Given the description of an element on the screen output the (x, y) to click on. 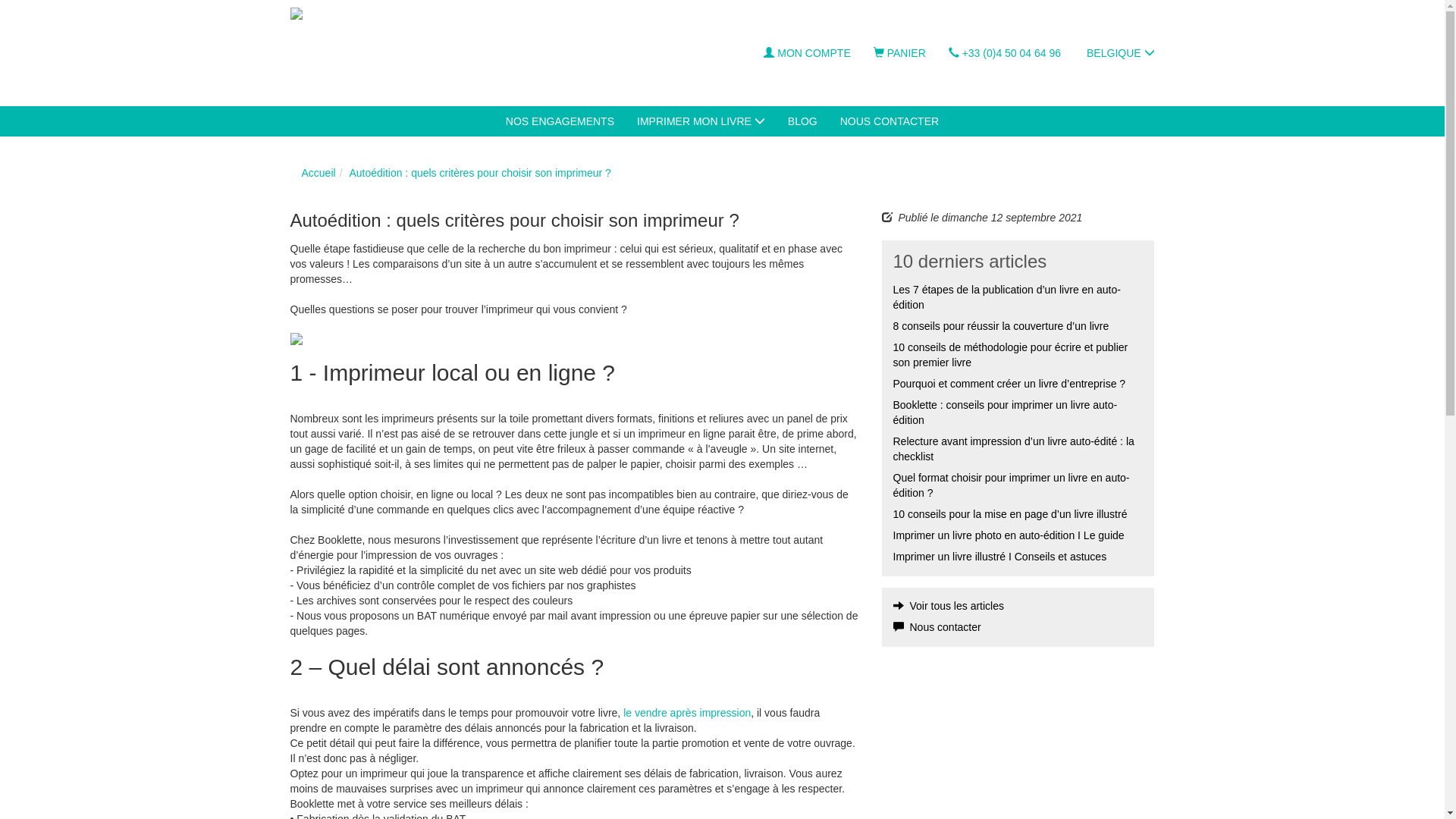
NOUS CONTACTER Element type: text (889, 121)
BELGIQUE Element type: text (1118, 53)
IMPRIMER MON LIVRE Element type: text (700, 121)
+33 (0)4 50 04 64 96 Element type: text (1004, 53)
Accueil Element type: text (318, 172)
Voir tous les articles Element type: text (948, 605)
NOS ENGAGEMENTS Element type: text (559, 121)
Nous contacter Element type: text (937, 627)
MON COMPTE Element type: text (806, 53)
BLOG Element type: text (802, 121)
PANIER Element type: text (899, 53)
